Given the description of an element on the screen output the (x, y) to click on. 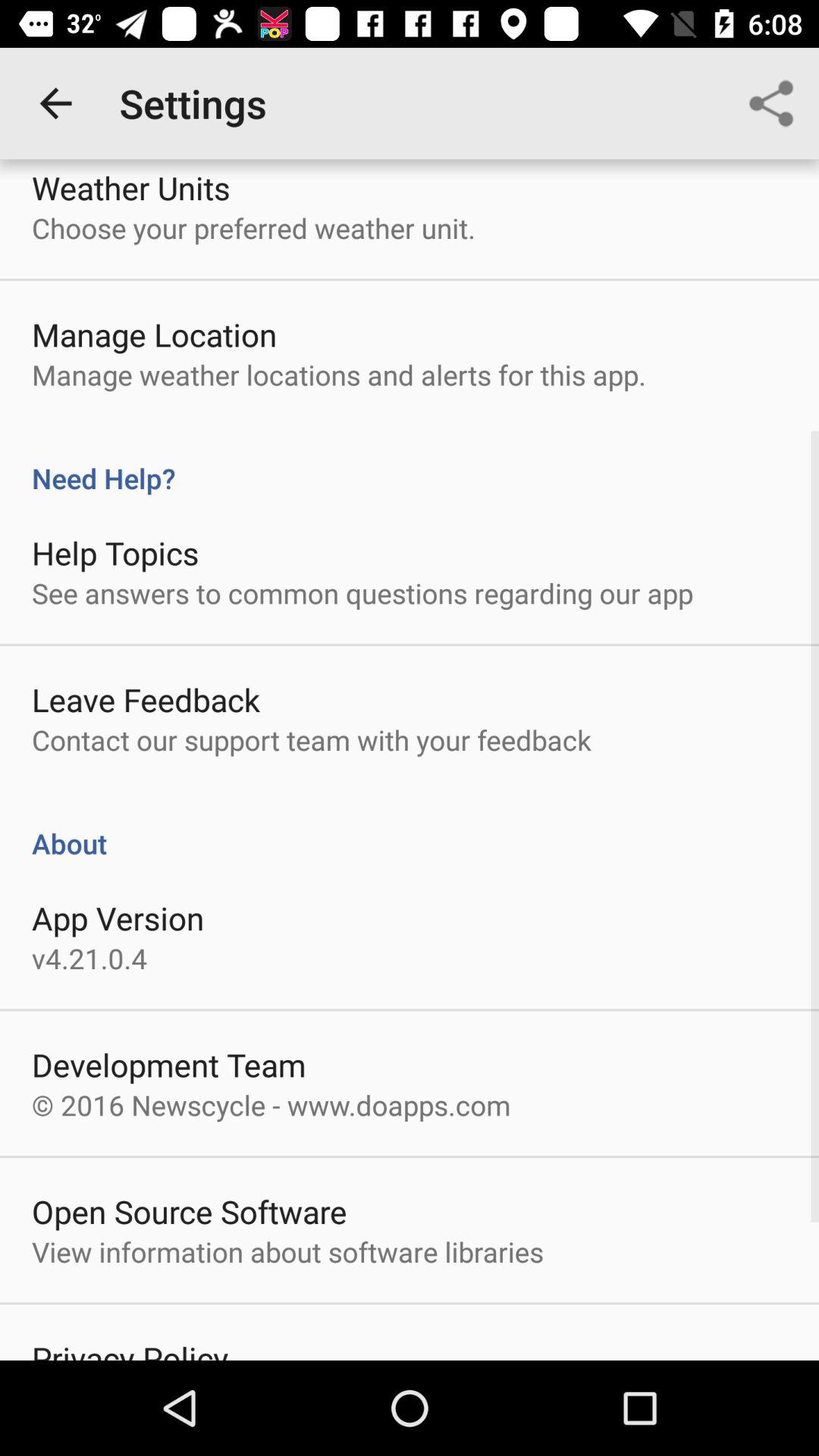
open icon below about item (117, 917)
